Given the description of an element on the screen output the (x, y) to click on. 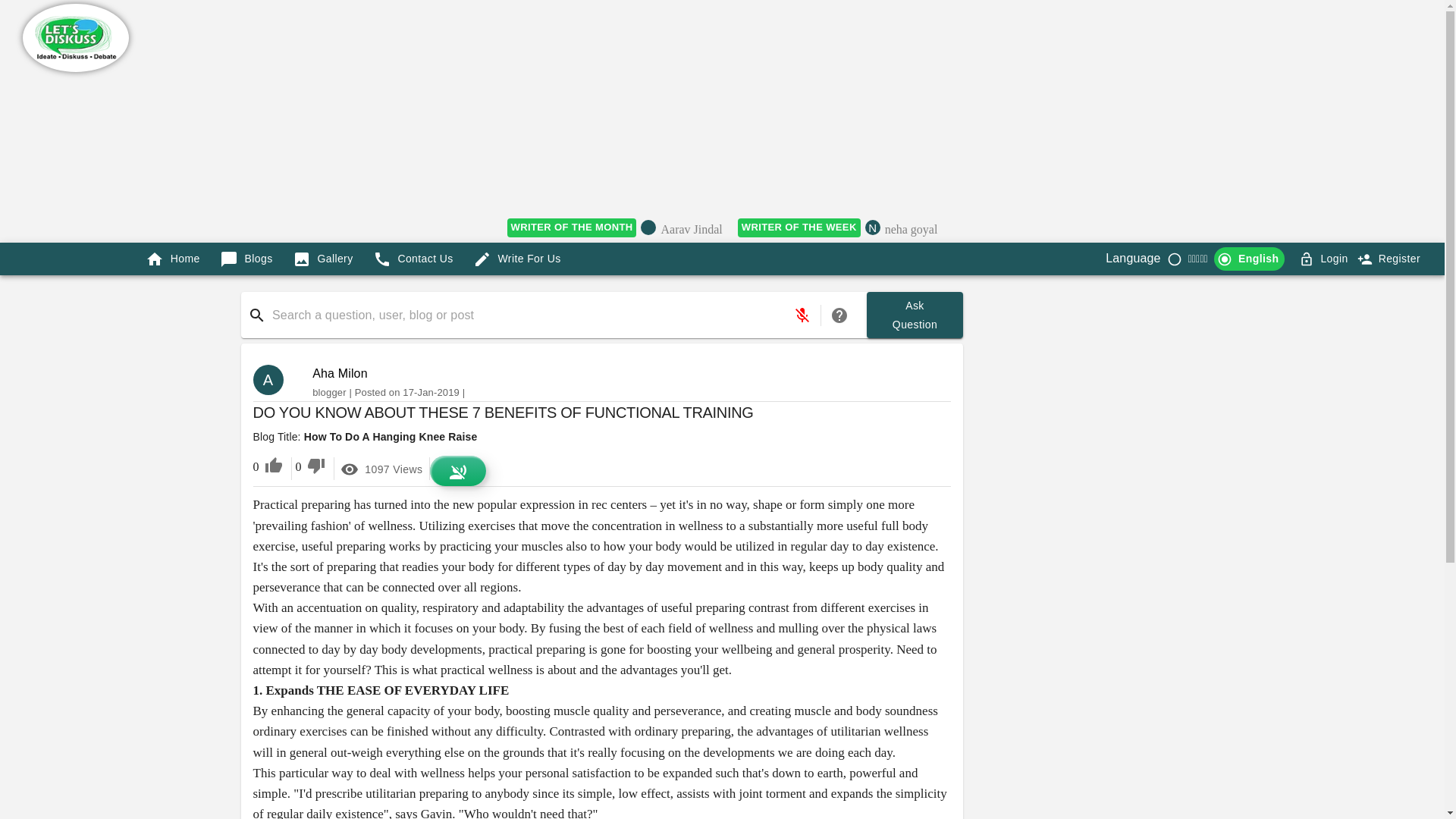
neha goyal (911, 231)
 Write For Us (517, 258)
 Gallery (322, 258)
Register (1390, 258)
Official Letsdiskuss Logo (75, 37)
Aha Milon (340, 373)
A (274, 379)
 Blogs (246, 258)
 Home (172, 258)
